Given the description of an element on the screen output the (x, y) to click on. 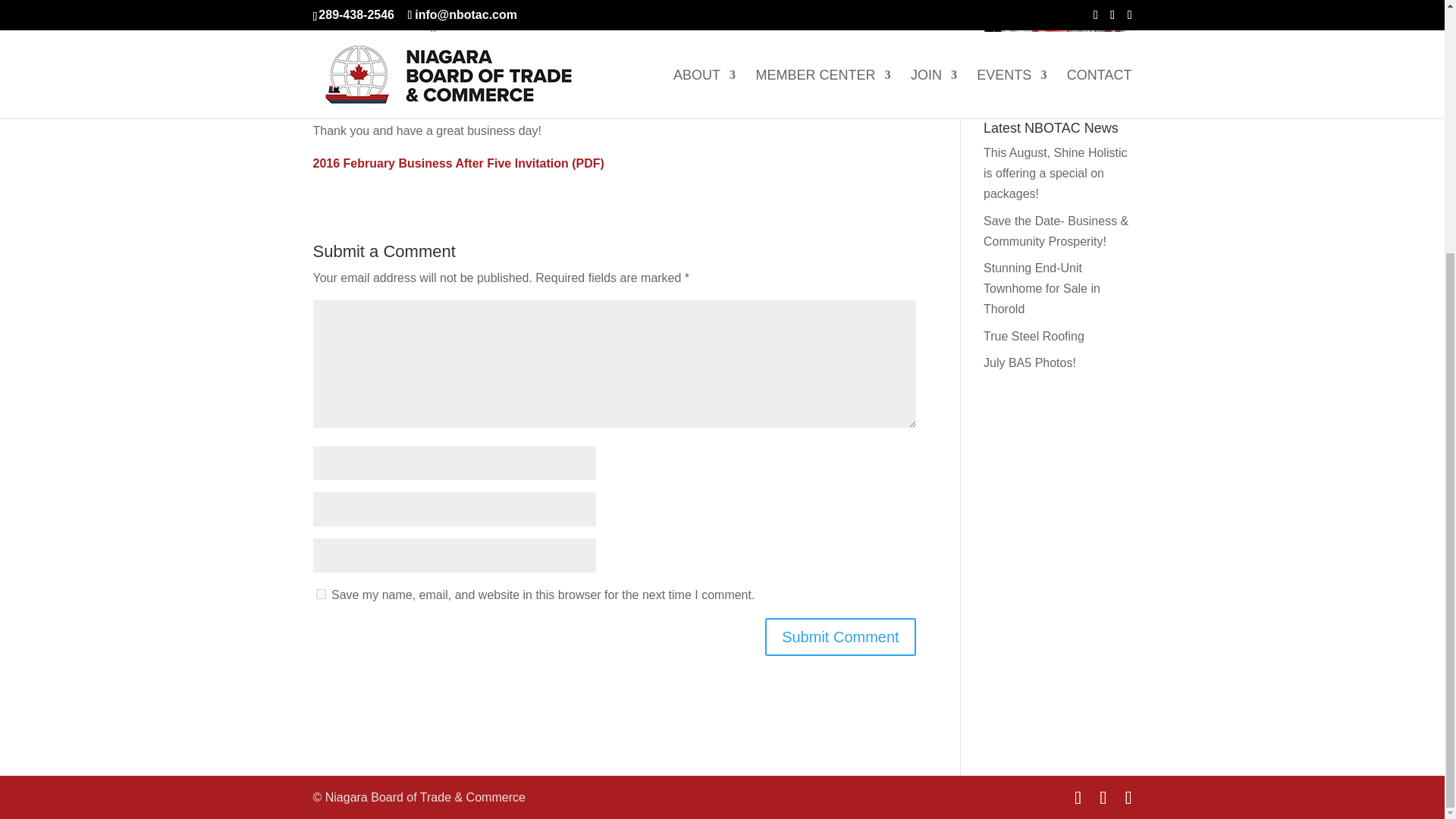
Submit Comment (840, 637)
yes (319, 593)
